Given the description of an element on the screen output the (x, y) to click on. 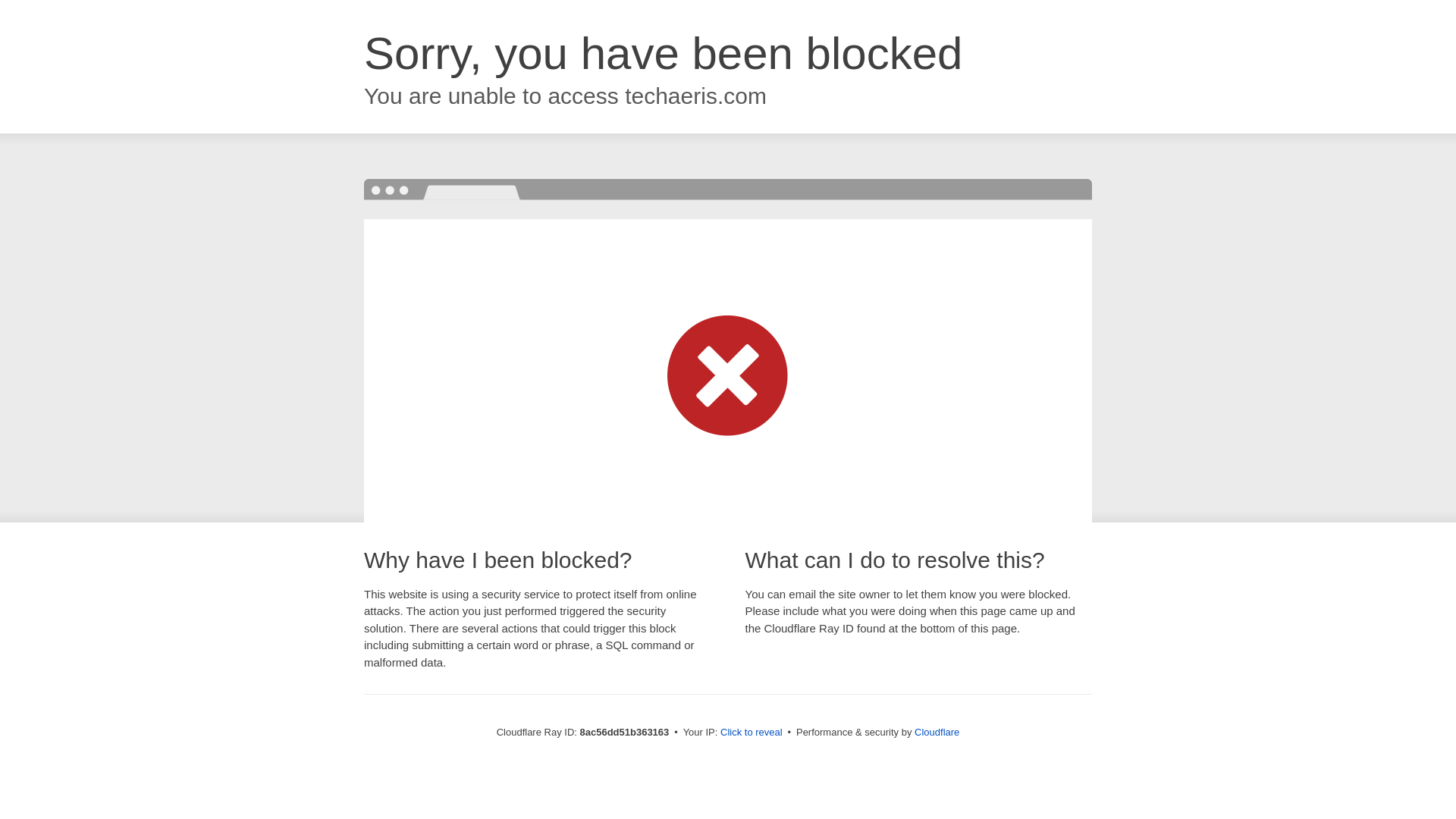
Cloudflare (936, 731)
Click to reveal (751, 732)
